Given the description of an element on the screen output the (x, y) to click on. 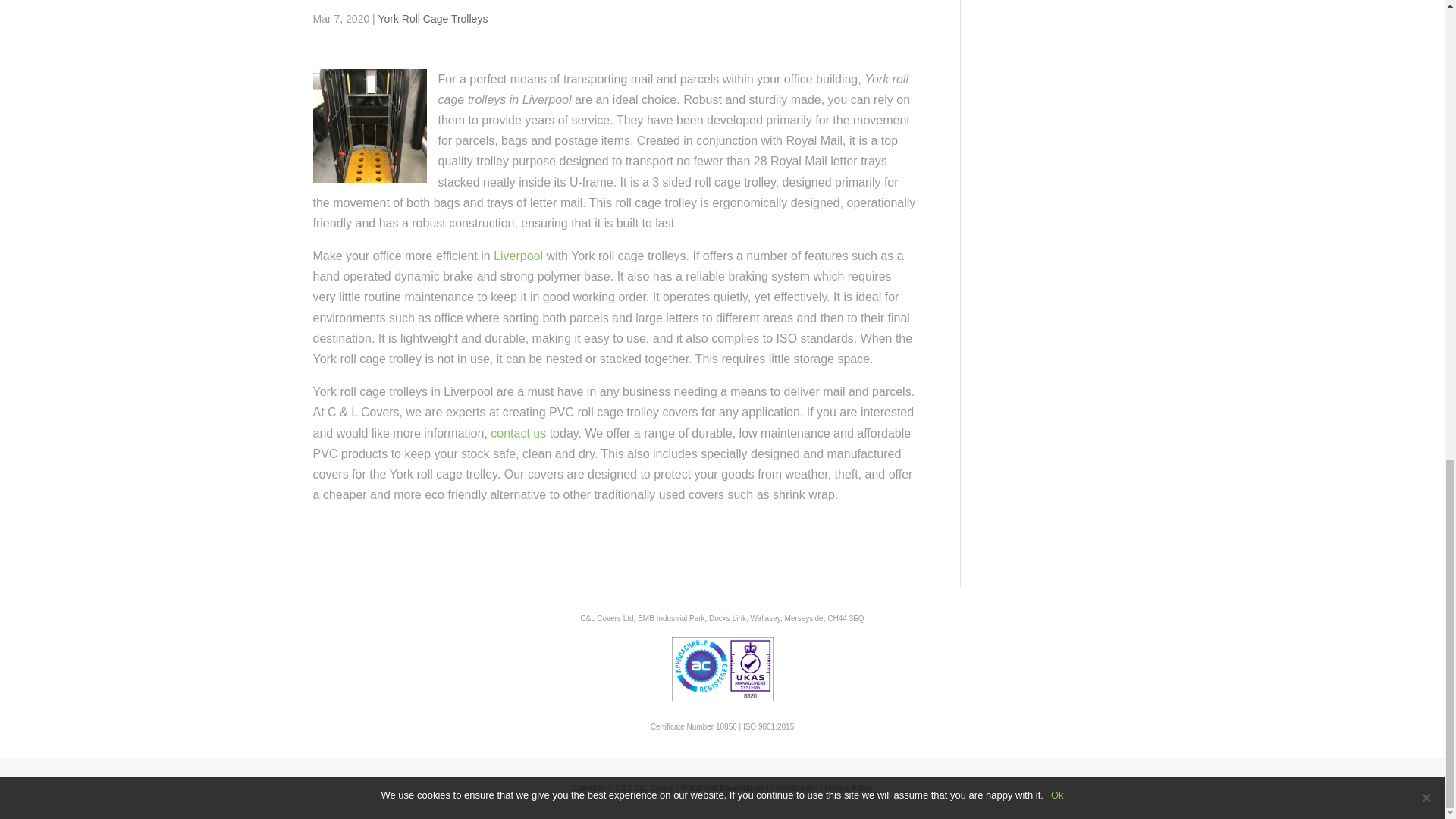
contact us (518, 432)
Liverpool (518, 255)
HeyStrategy (797, 787)
York Roll Cage Trolleys (432, 19)
